Given the description of an element on the screen output the (x, y) to click on. 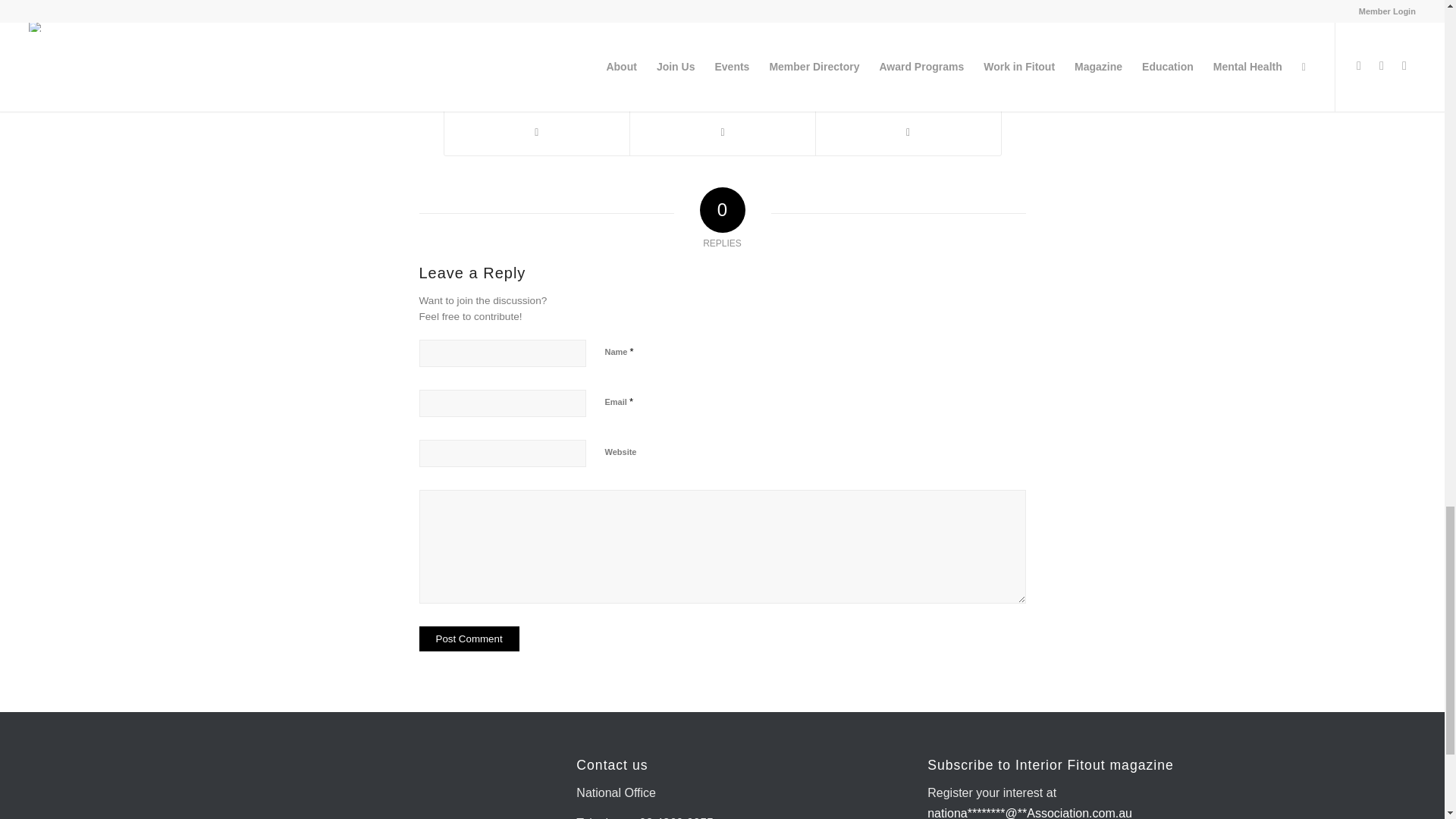
Post Comment (468, 638)
